Given the description of an element on the screen output the (x, y) to click on. 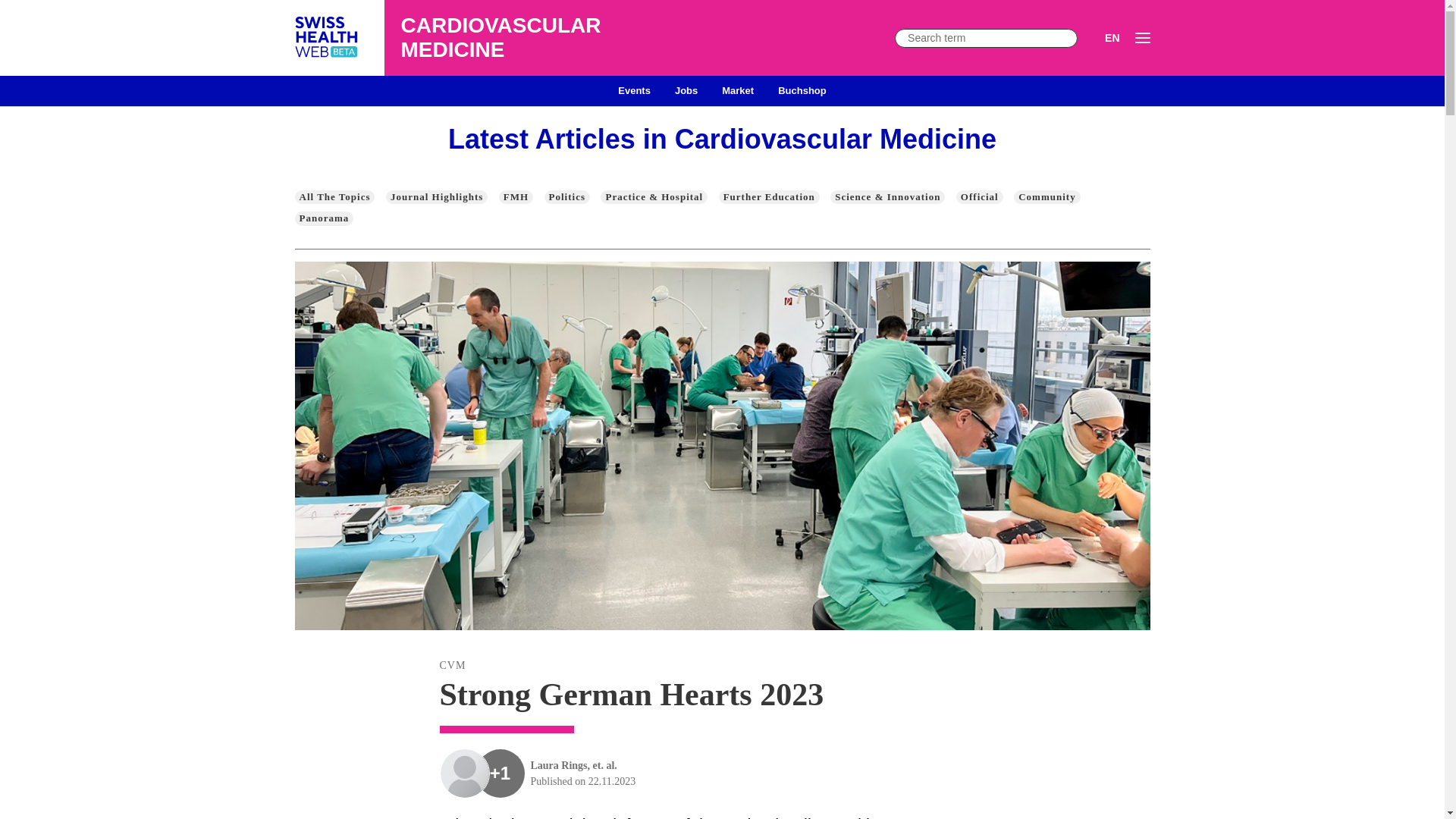
Journal Highlights Element type: text (436, 196)
Market Element type: text (737, 90)
Cardiovascular Medicine Element type: hover (326, 37)
Strong German Hearts 2023 Element type: text (722, 695)
Jobs Element type: text (685, 90)
Official Element type: text (979, 196)
Science & Innovation Element type: text (887, 196)
Buchshop Element type: text (802, 90)
Events Element type: text (634, 90)
Panorama Element type: text (323, 218)
Community Element type: text (1046, 196)
Politics Element type: text (566, 196)
FMH Element type: text (515, 196)
All The Topics Element type: text (334, 196)
CARDIOVASCULAR
MEDICINE Element type: text (491, 37)
EN Element type: text (1111, 38)
Further Education Element type: text (768, 196)
Practice & Hospital Element type: text (653, 196)
